Given the description of an element on the screen output the (x, y) to click on. 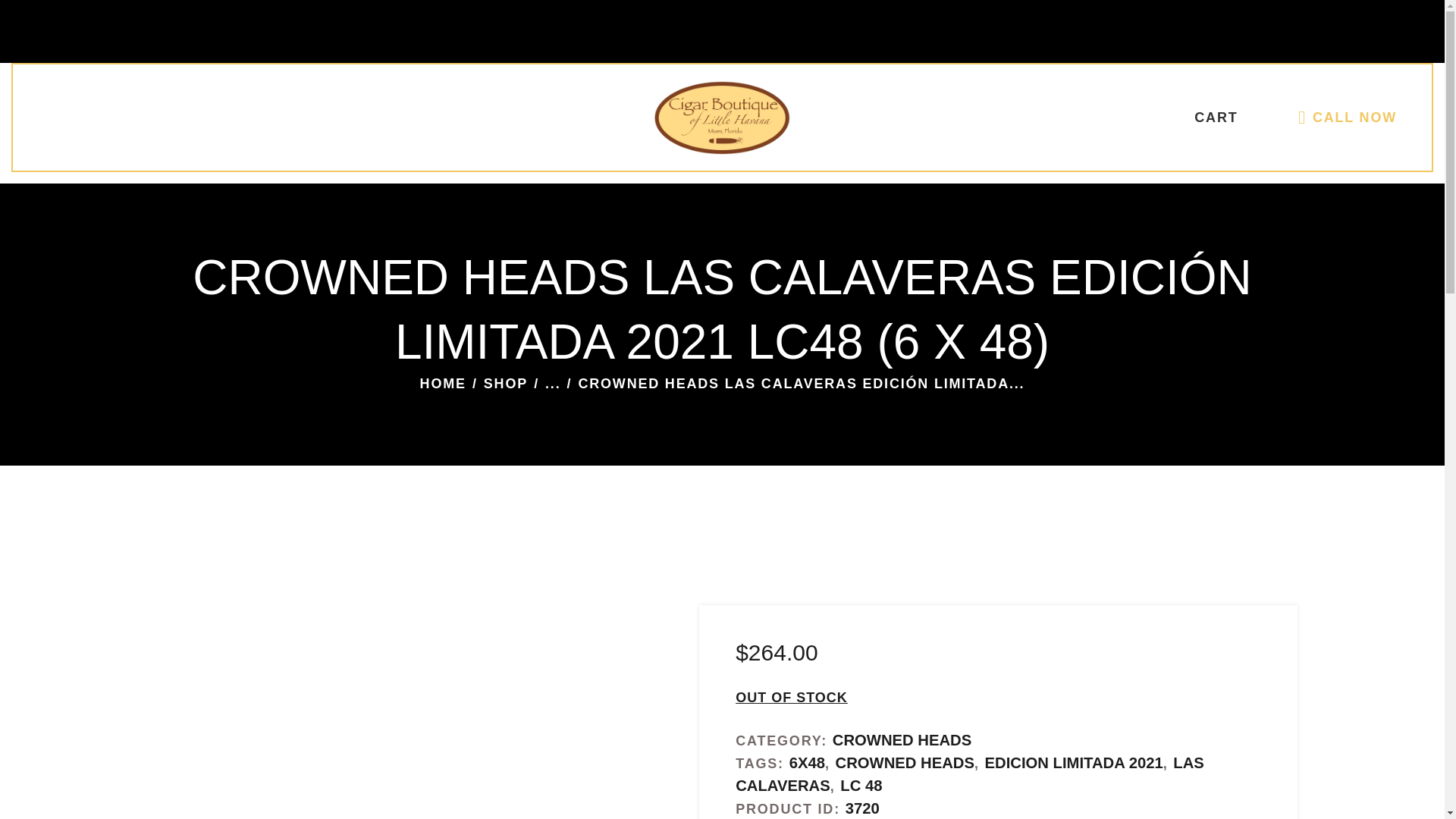
305-286-9154 (1174, 31)
SHOP (505, 383)
CROWNED HEADS (901, 740)
1100 SW 8th St, Miami, FL 33130 (1321, 31)
LC 48 (861, 785)
HOME (442, 383)
LAS CALAVERAS (969, 773)
CROWNED HEADS (904, 762)
CALL NOW (1348, 117)
6X48 (807, 762)
